Given the description of an element on the screen output the (x, y) to click on. 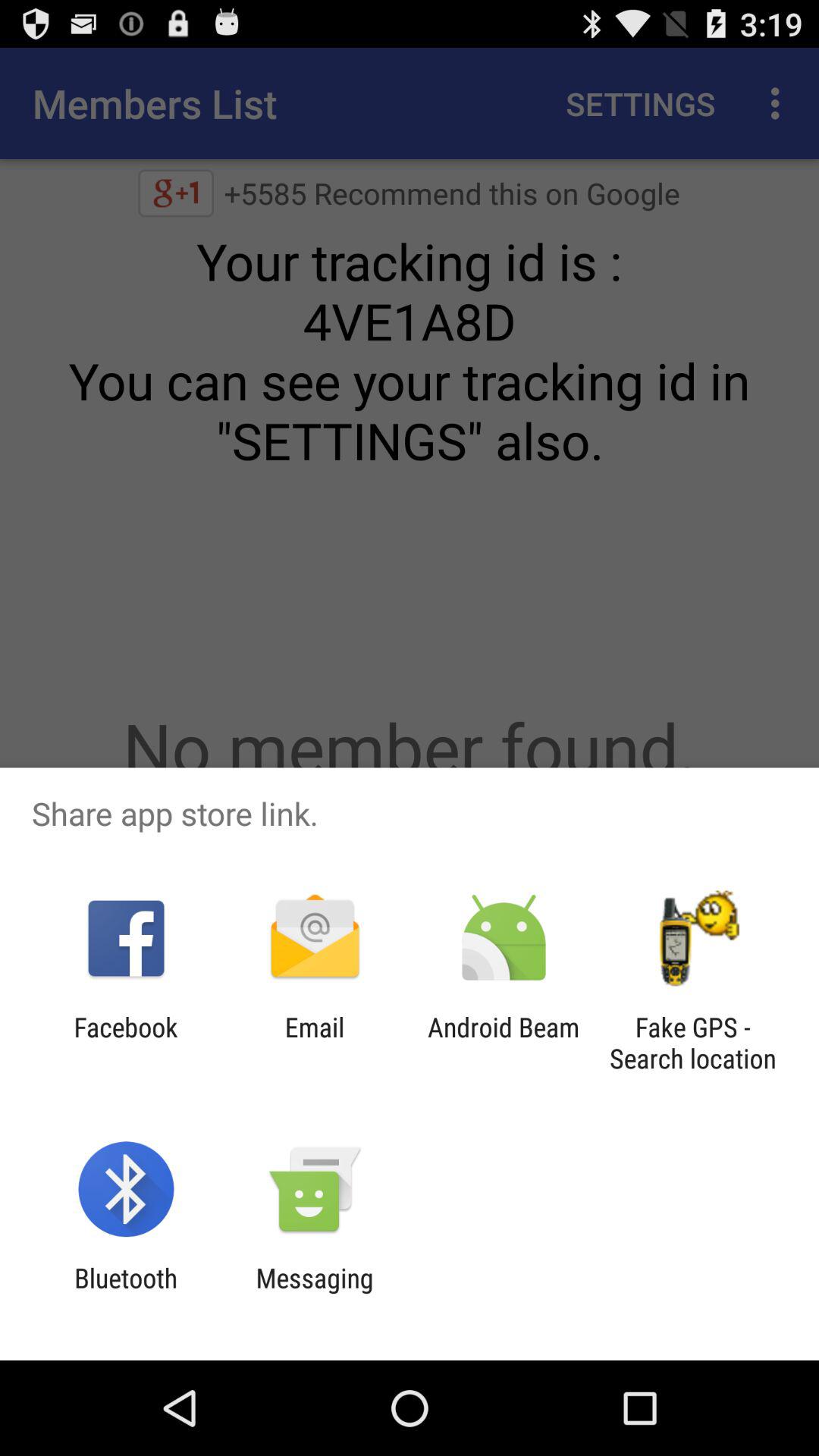
scroll to the email app (314, 1042)
